Given the description of an element on the screen output the (x, y) to click on. 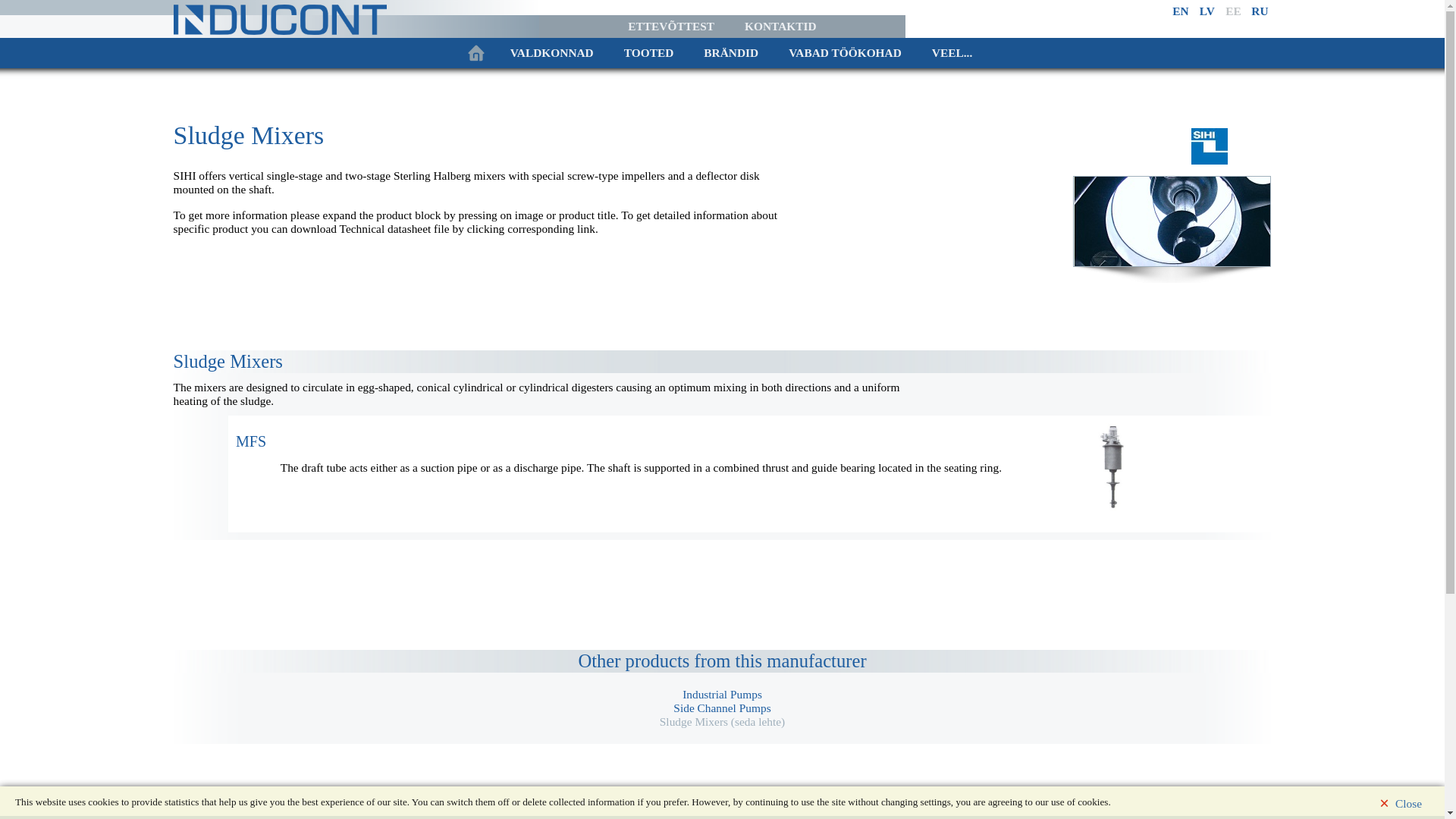
EE (1233, 11)
EN (1180, 11)
Click to expand (250, 441)
Avaleht (476, 52)
VEEL... (952, 52)
LV (1206, 11)
KONTAKTID (780, 26)
VALDKONNAD (551, 52)
TOOTED (648, 52)
RU (1259, 11)
